Given the description of an element on the screen output the (x, y) to click on. 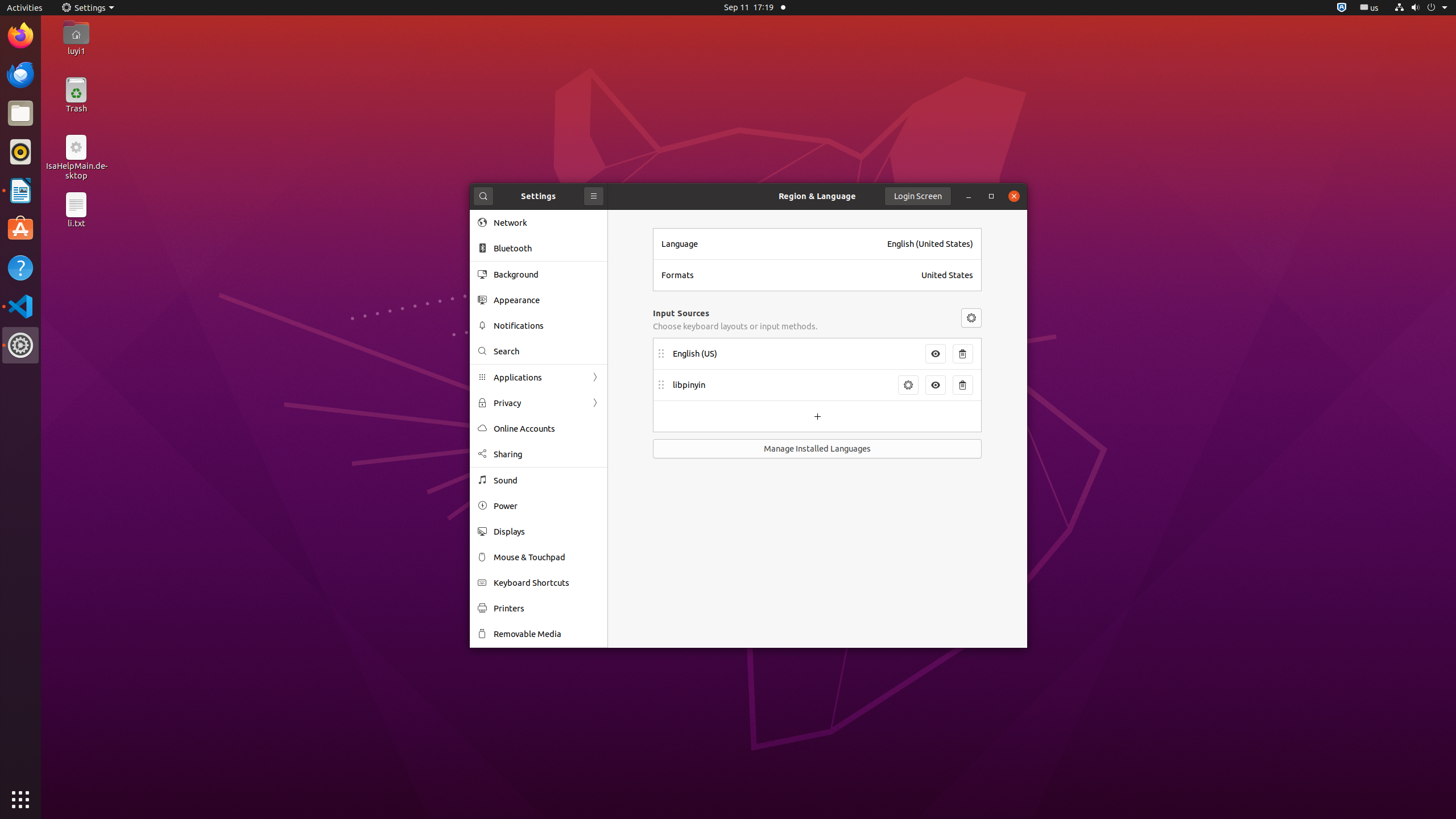
Input Sources Element type: label (680, 312)
Bluetooth Element type: label (546, 248)
Sound Element type: label (546, 480)
